Given the description of an element on the screen output the (x, y) to click on. 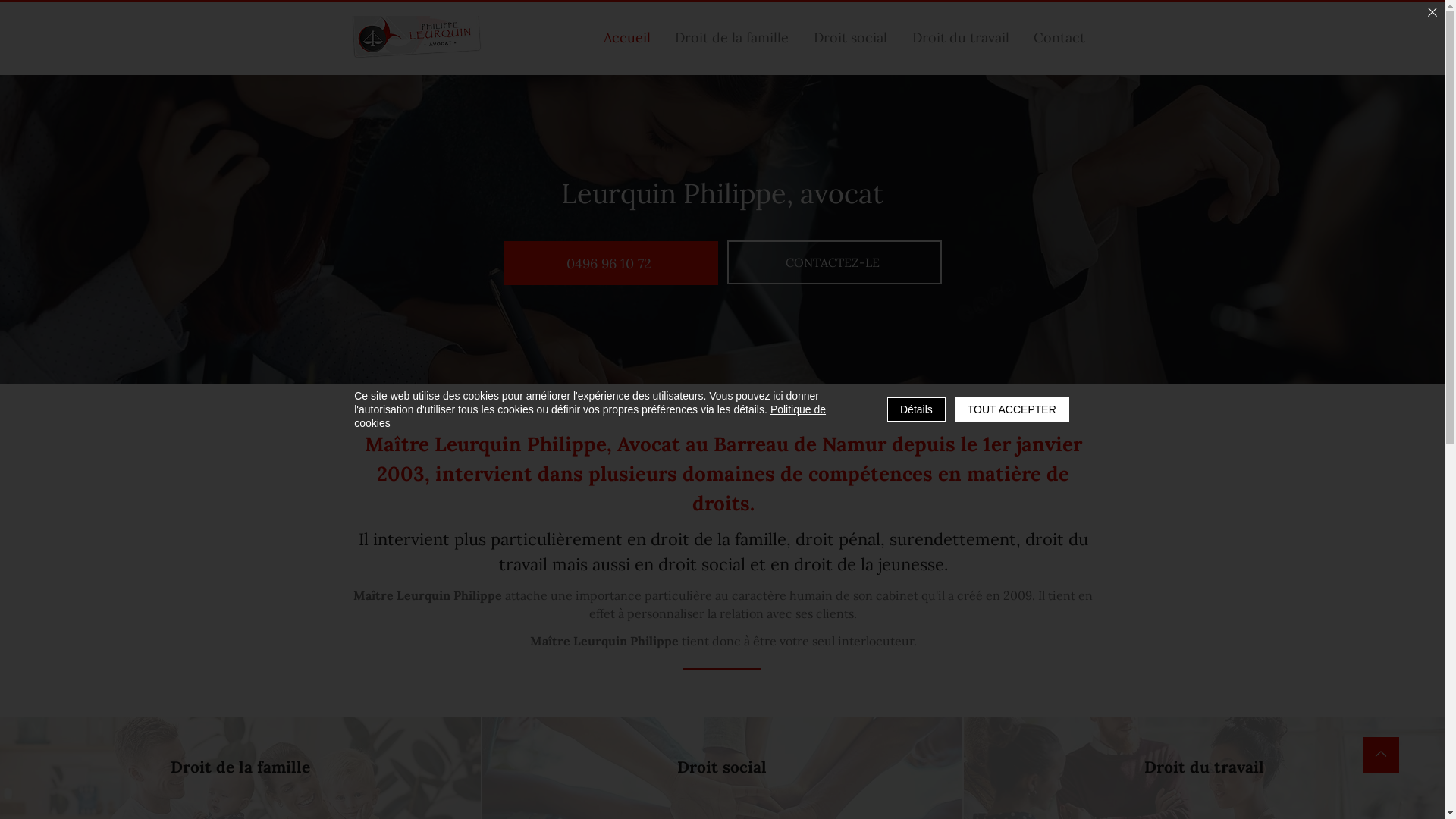
0496 96 10 72 Element type: text (610, 263)
Droit du travail Element type: text (960, 37)
Droit de la famille Element type: text (731, 37)
Politique de cookies Element type: text (589, 416)
Contact Element type: text (1059, 37)
CONTACTEZ-LE Element type: text (833, 262)
Droit social Element type: text (850, 37)
TOUT ACCEPTER Element type: text (1011, 409)
Accueil Element type: text (627, 37)
